Given the description of an element on the screen output the (x, y) to click on. 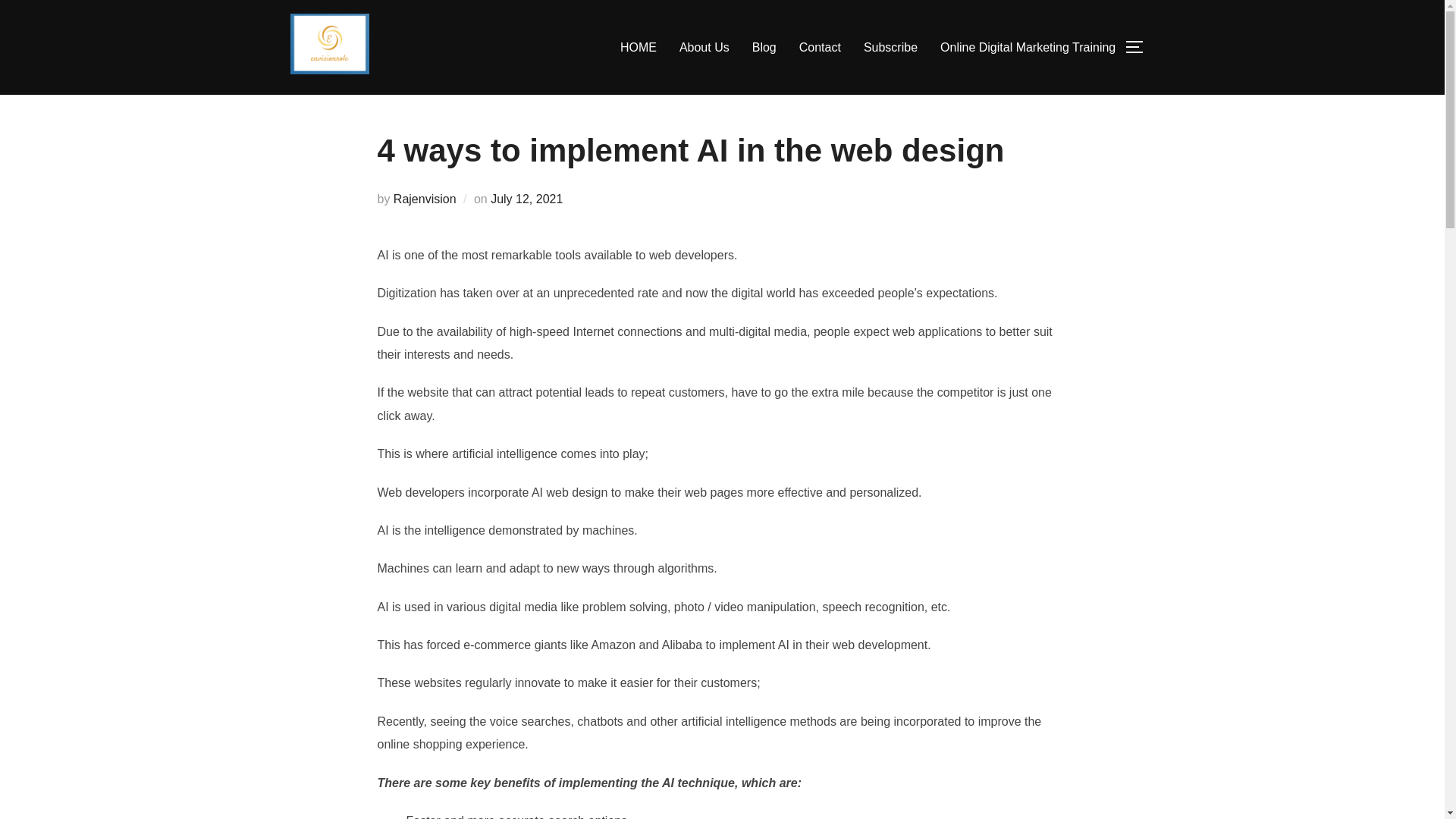
About Us (704, 47)
HOME (638, 47)
Online Digital Marketing Training (1027, 47)
Rajenvision (425, 198)
Subscribe (890, 47)
Contact (820, 47)
